Given the description of an element on the screen output the (x, y) to click on. 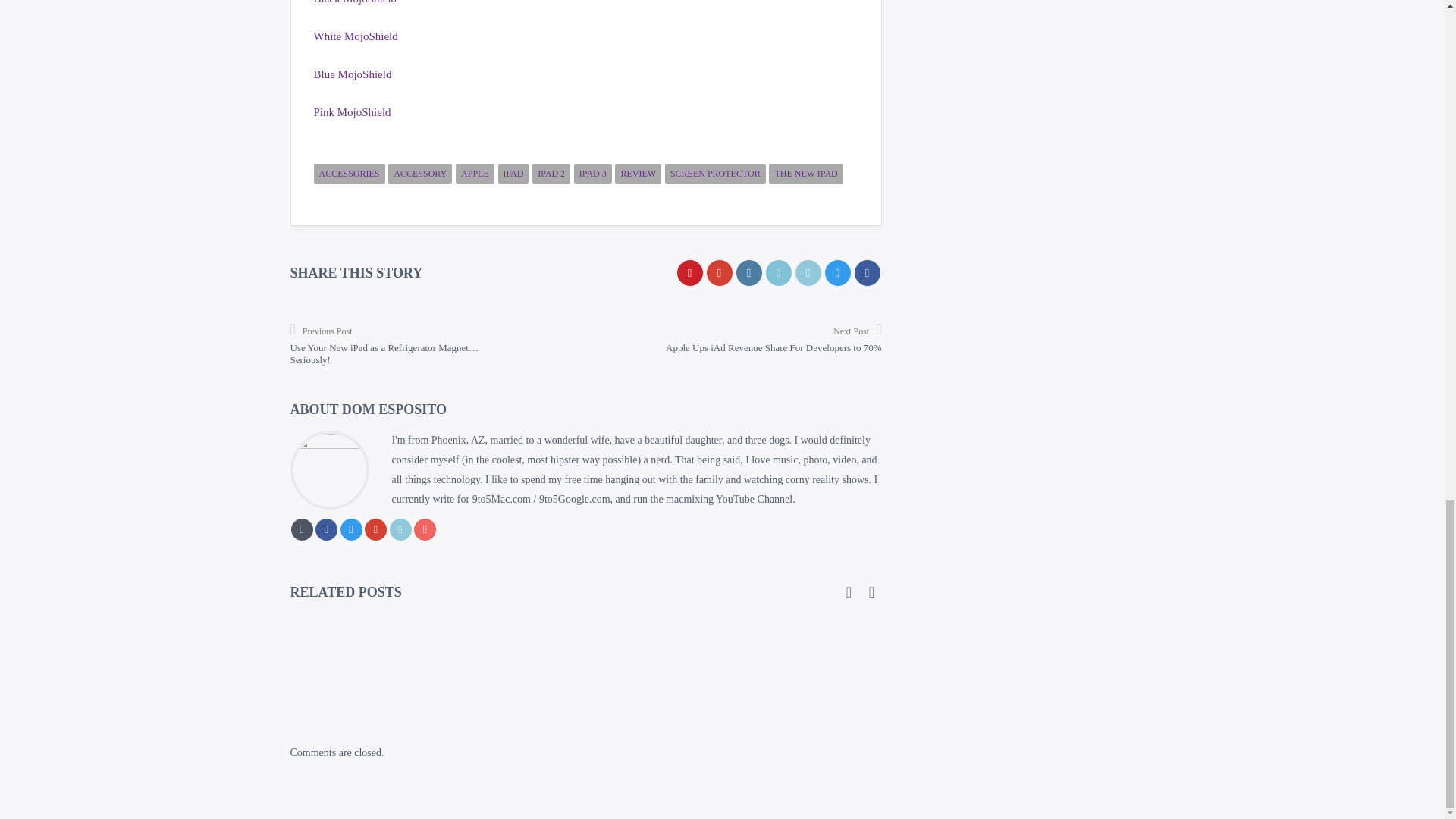
twitter (837, 272)
facebook (866, 272)
reddit (778, 272)
google (719, 272)
Dom Esposito's site (302, 529)
Dom Esposito   on Facebook (326, 529)
linkedin (807, 272)
Posts by Dom Esposito (394, 409)
tumblr (748, 272)
pinterest (689, 272)
